Given the description of an element on the screen output the (x, y) to click on. 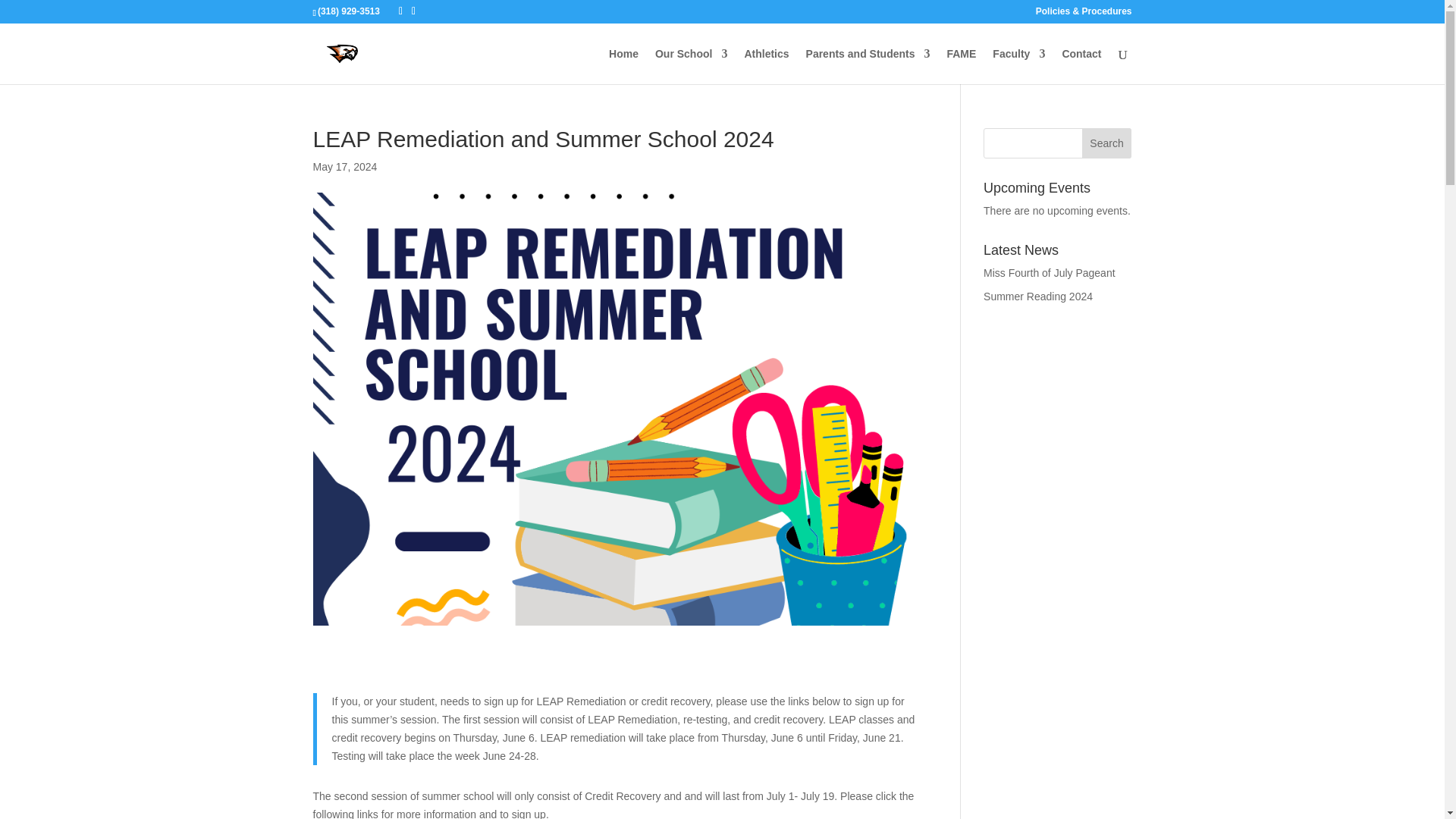
Contact (1080, 66)
Search (1106, 142)
Home (623, 66)
Our School (690, 66)
Athletics (766, 66)
FAME (960, 66)
Parents and Students (868, 66)
Faculty (1018, 66)
